Given the description of an element on the screen output the (x, y) to click on. 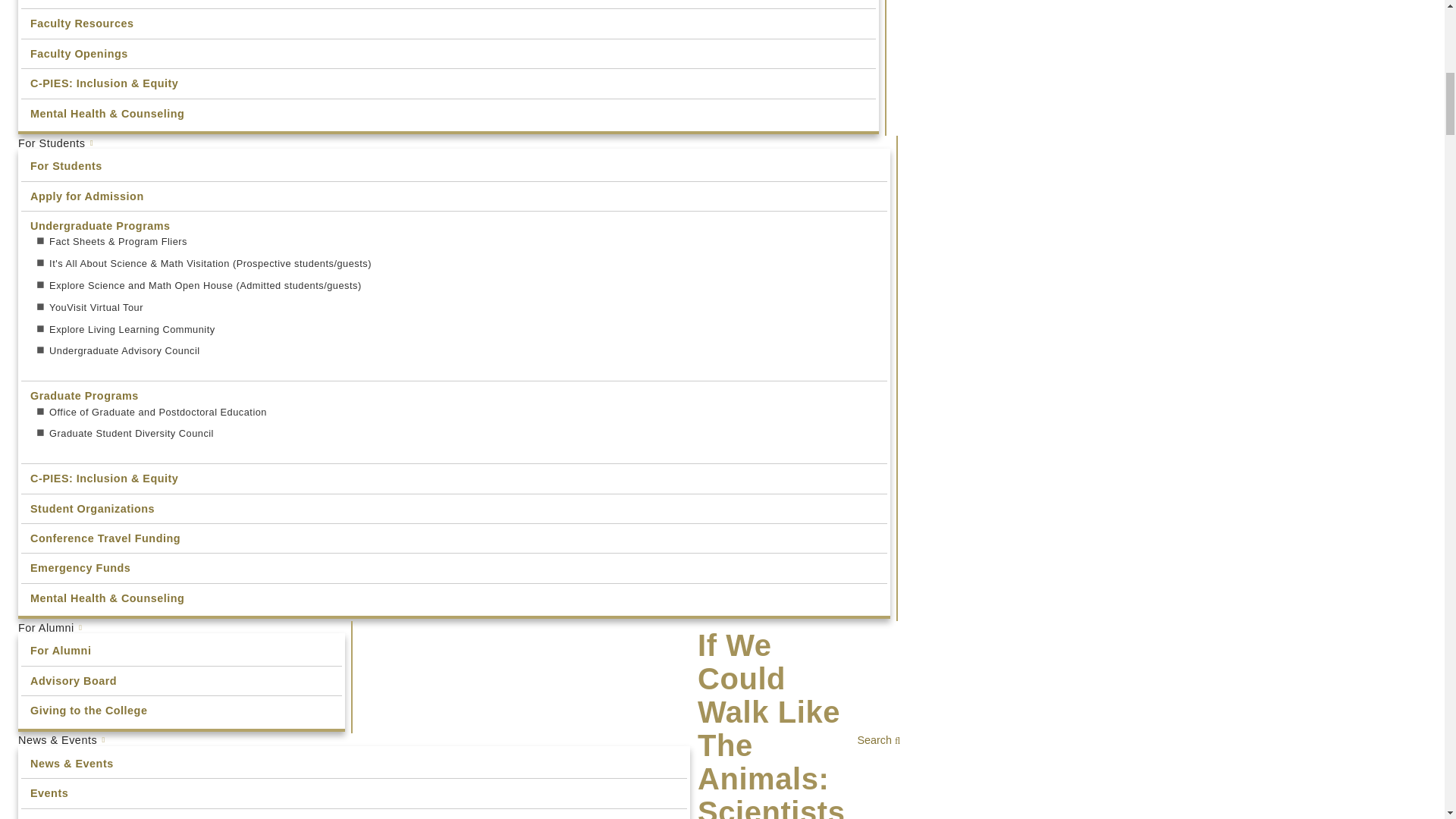
Undergraduate Programs (453, 225)
undefined (453, 165)
Search Button (963, 756)
Apply for Admission (453, 195)
For Students (453, 165)
Faculty Resources (448, 23)
For Students (453, 143)
Faculty Openings (448, 53)
